Given the description of an element on the screen output the (x, y) to click on. 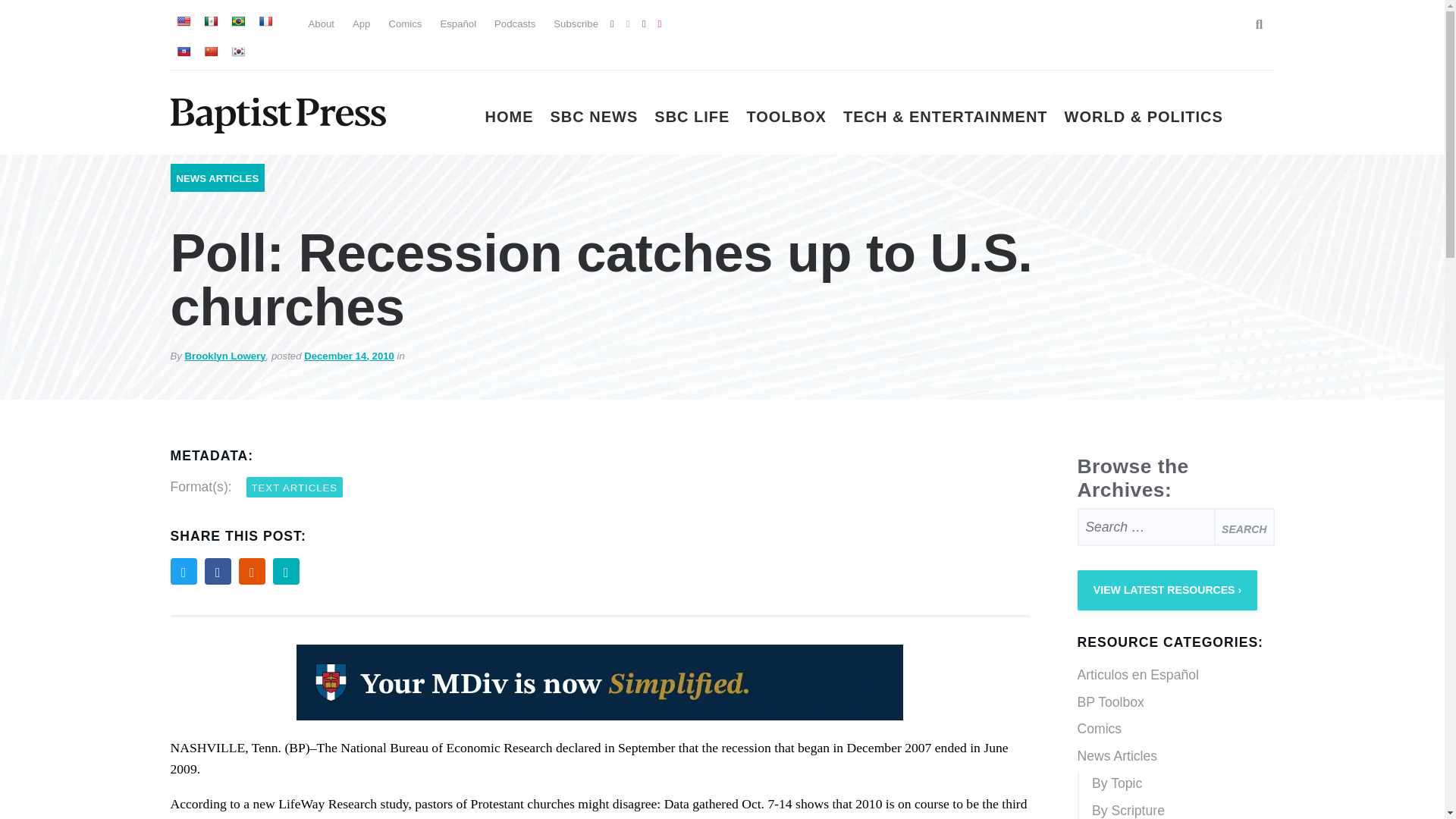
NEWS ARTICLES (217, 178)
VIEW LATEST RESOURCES (1167, 590)
Comics (405, 23)
French (263, 21)
Search (1244, 526)
Subscribe (575, 23)
About (320, 23)
TOOLBOX (786, 116)
HOME (509, 116)
December 14, 2010 (349, 355)
Search (1244, 526)
Brooklyn Lowery (225, 355)
Haitian (182, 51)
SBC NEWS (594, 116)
App (360, 23)
